Given the description of an element on the screen output the (x, y) to click on. 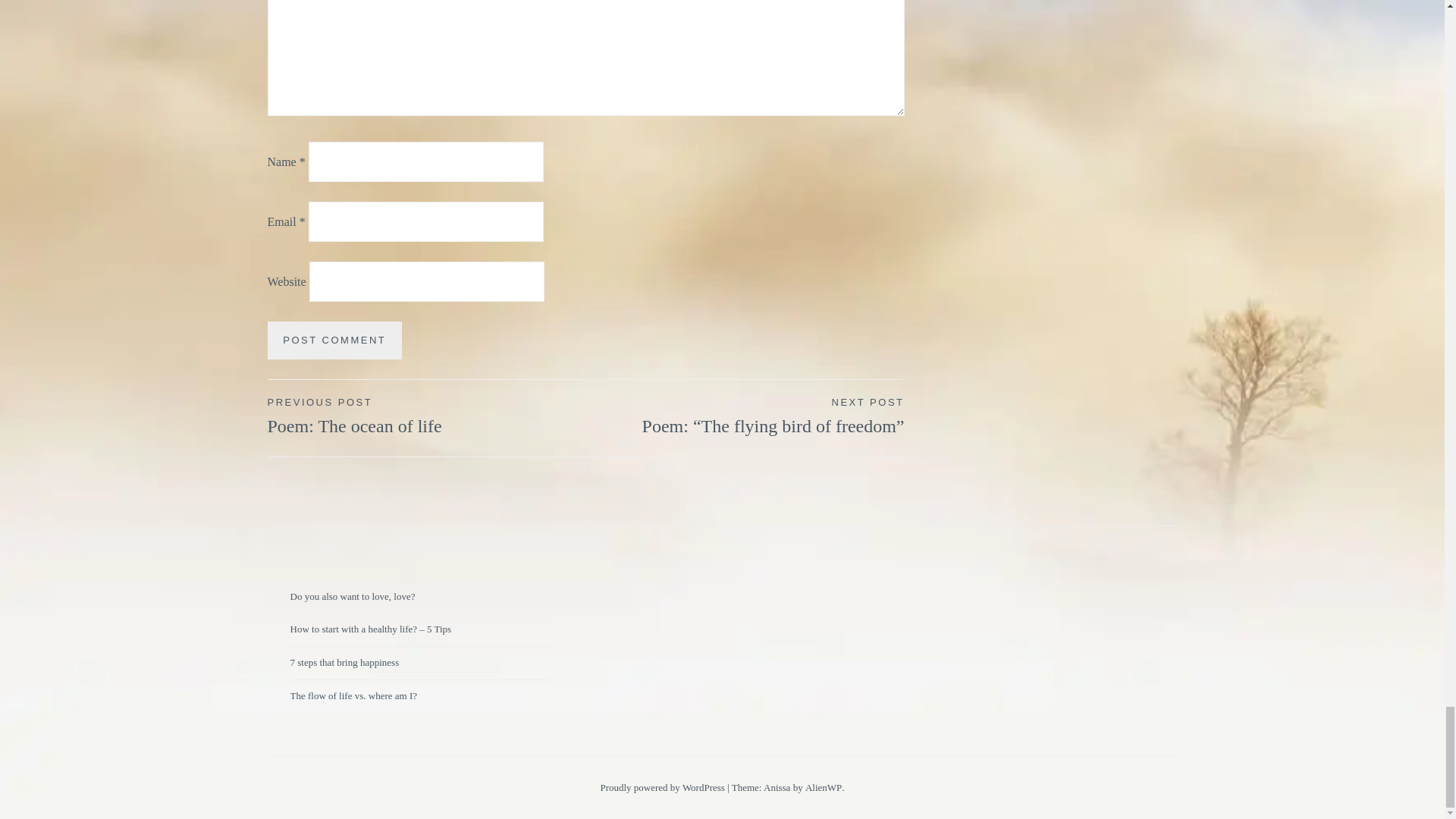
Post Comment (333, 340)
Post Comment (333, 340)
